Given the description of an element on the screen output the (x, y) to click on. 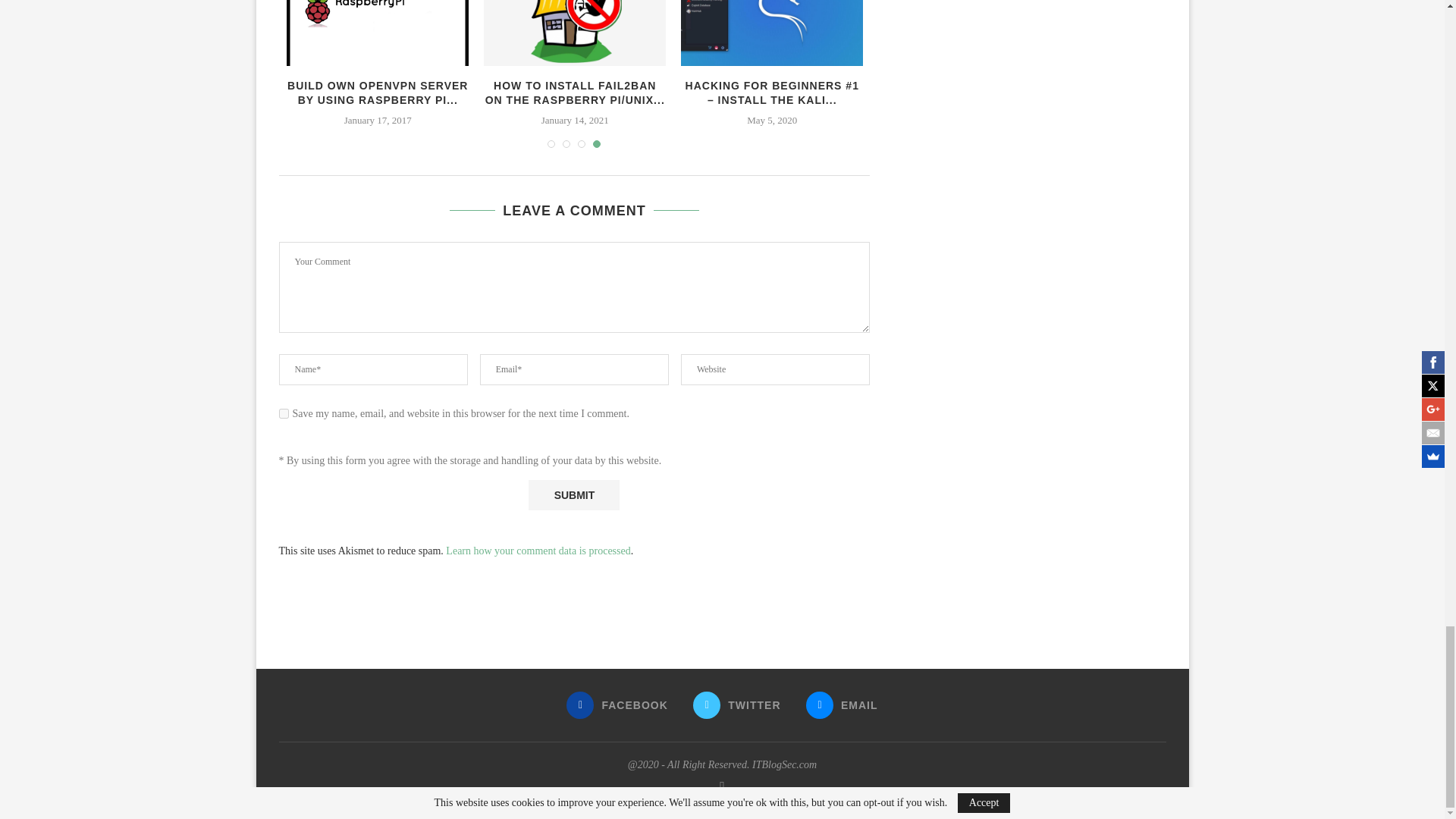
Submit (574, 494)
yes (283, 413)
